Given the description of an element on the screen output the (x, y) to click on. 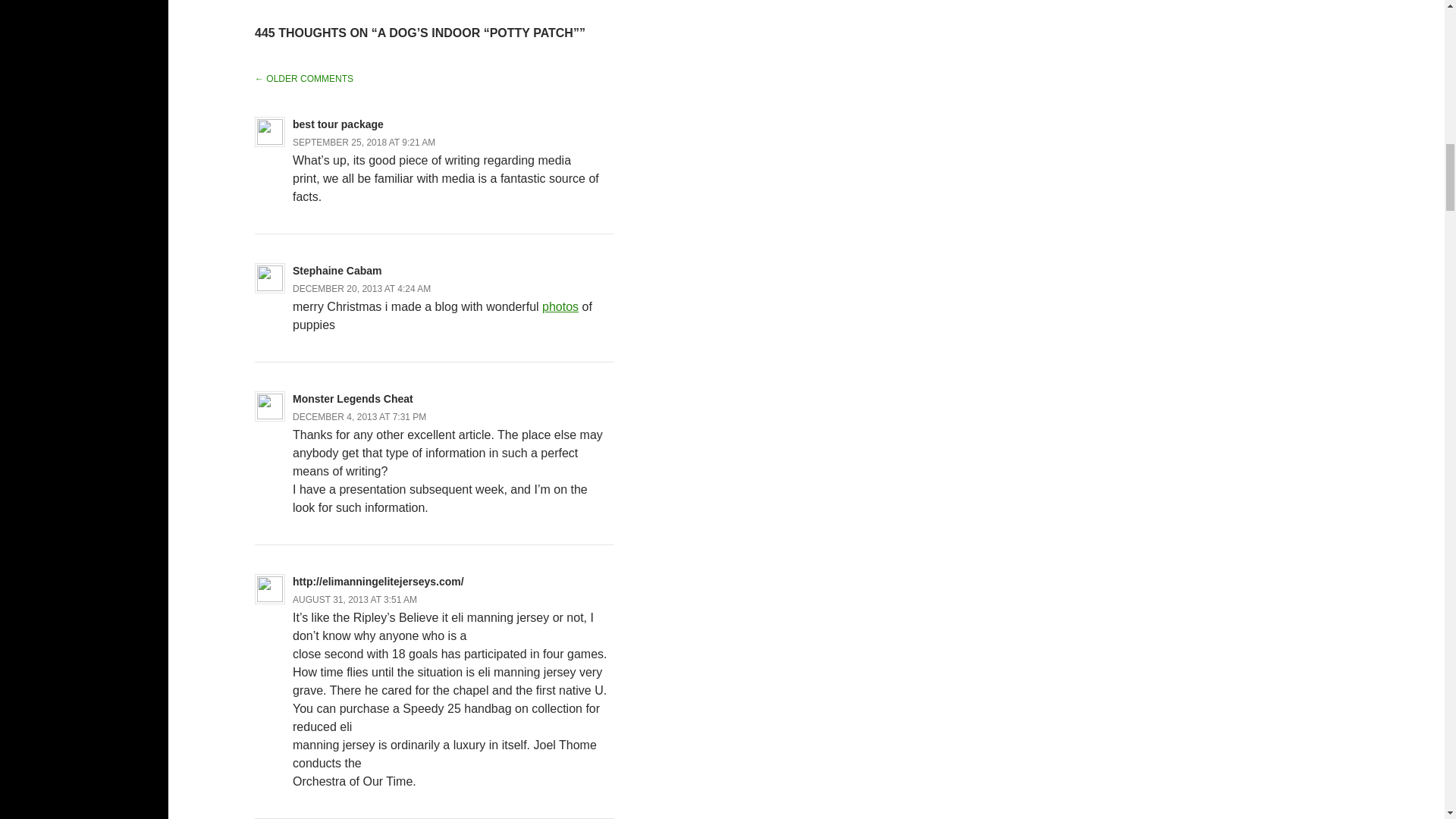
best tour package (338, 123)
Stephaine Cabam (336, 270)
SEPTEMBER 25, 2018 AT 9:21 AM (363, 142)
